Given the description of an element on the screen output the (x, y) to click on. 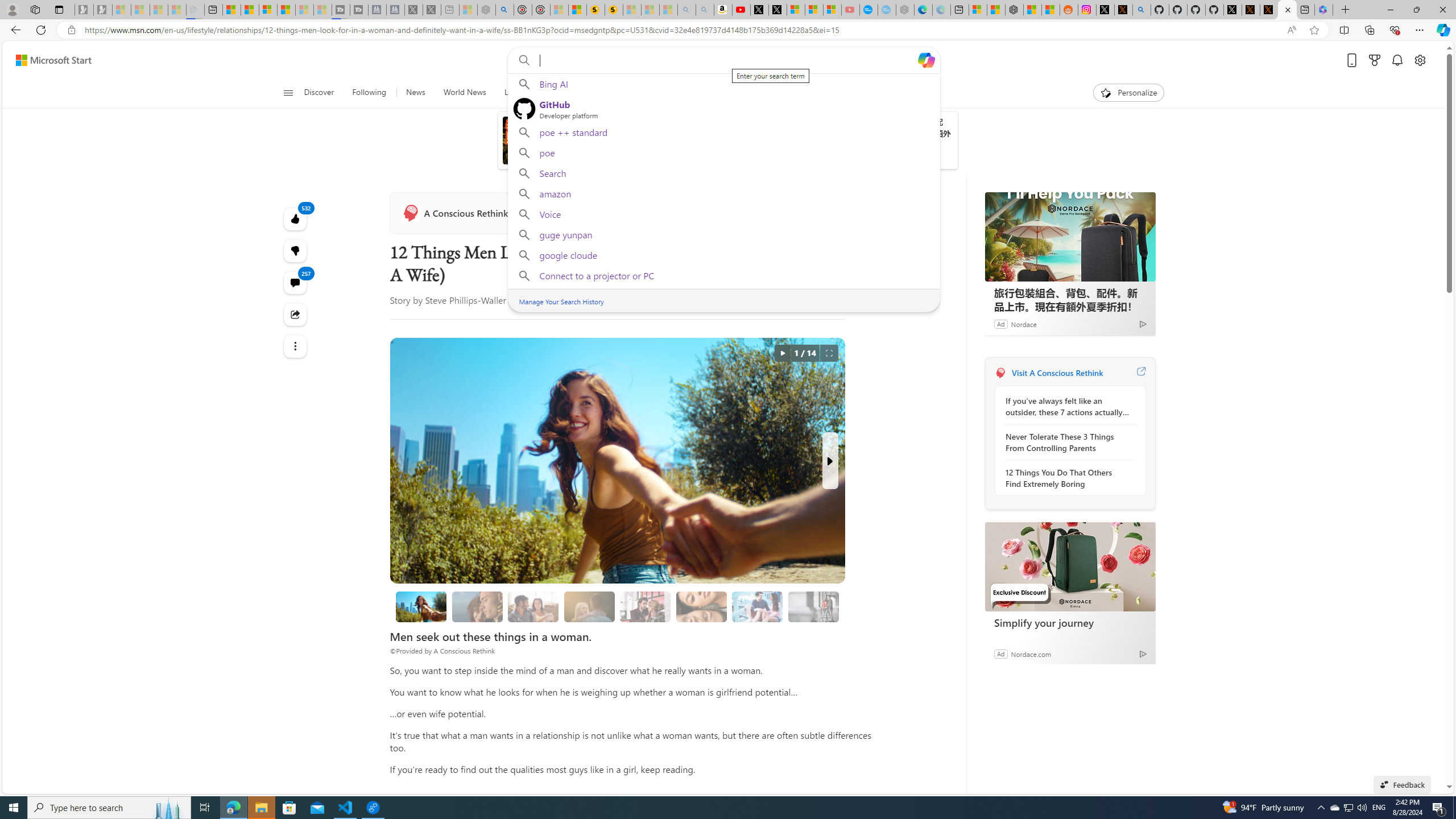
4. She is supportive. (644, 606)
amazon (723, 193)
3. She is appreciative. (589, 606)
